Given the description of an element on the screen output the (x, y) to click on. 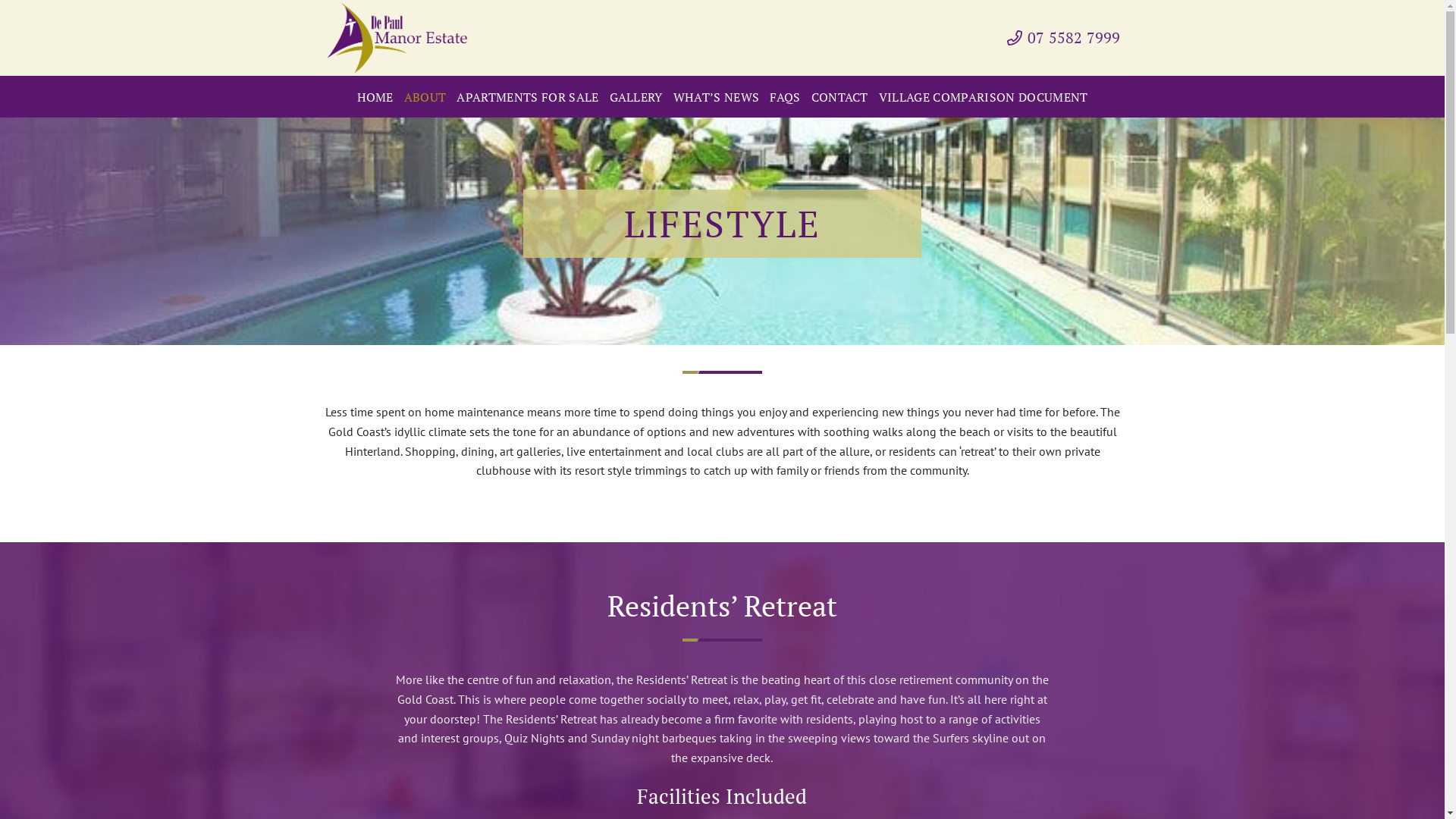
FAQS Element type: text (784, 96)
HOME Element type: text (375, 96)
CONTACT Element type: text (839, 96)
APARTMENTS FOR SALE Element type: text (527, 96)
07 5582 7999 Element type: text (1063, 37)
GALLERY Element type: text (635, 96)
ABOUT Element type: text (425, 96)
De Paul Manor Estate - Retirement Village Element type: hover (400, 37)
VILLAGE COMPARISON DOCUMENT Element type: text (983, 96)
Skip to content Element type: text (0, 0)
